Given the description of an element on the screen output the (x, y) to click on. 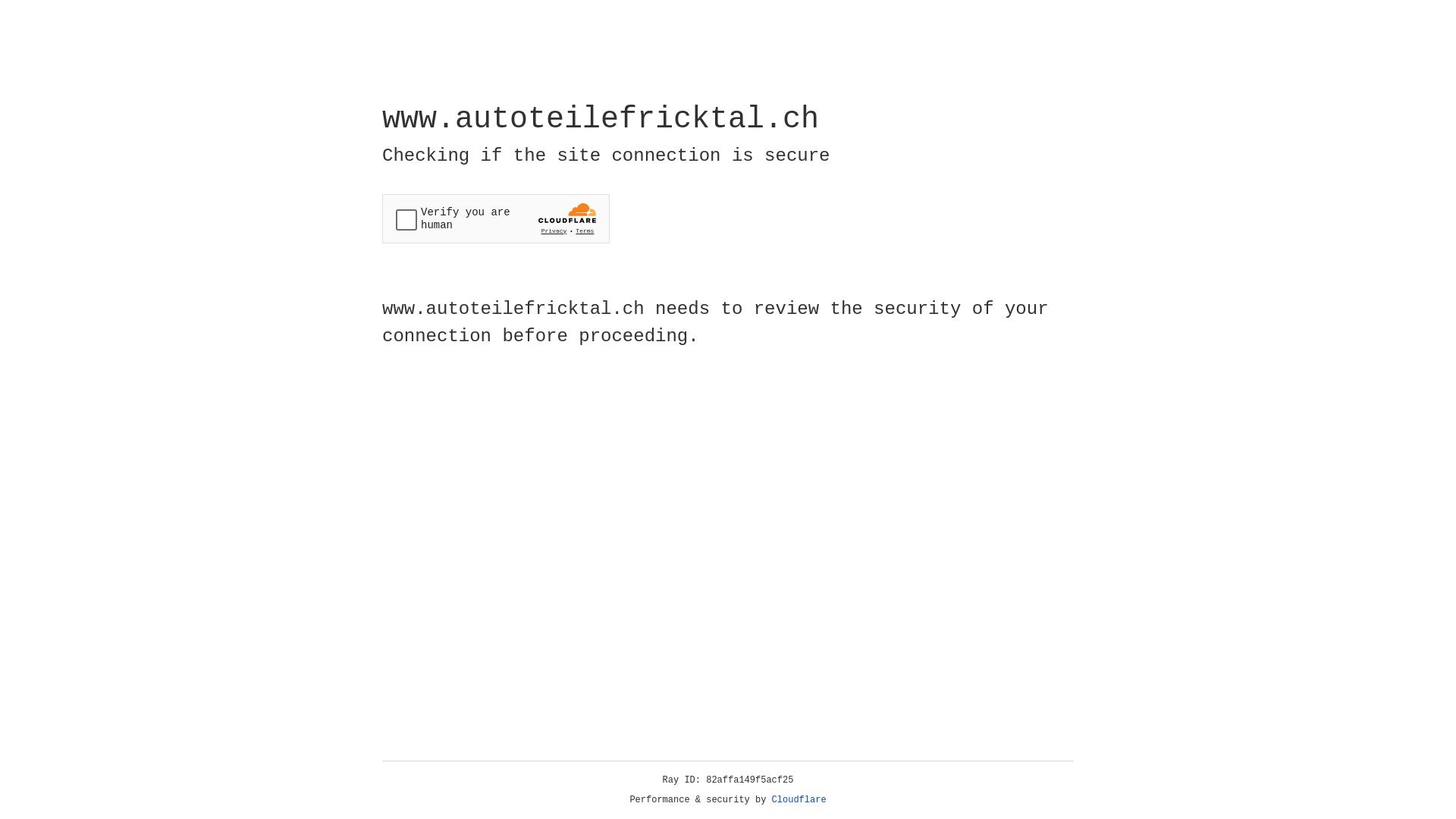
Widget containing a Cloudflare security challenge Element type: hover (495, 218)
Cloudflare Element type: text (798, 799)
